Given the description of an element on the screen output the (x, y) to click on. 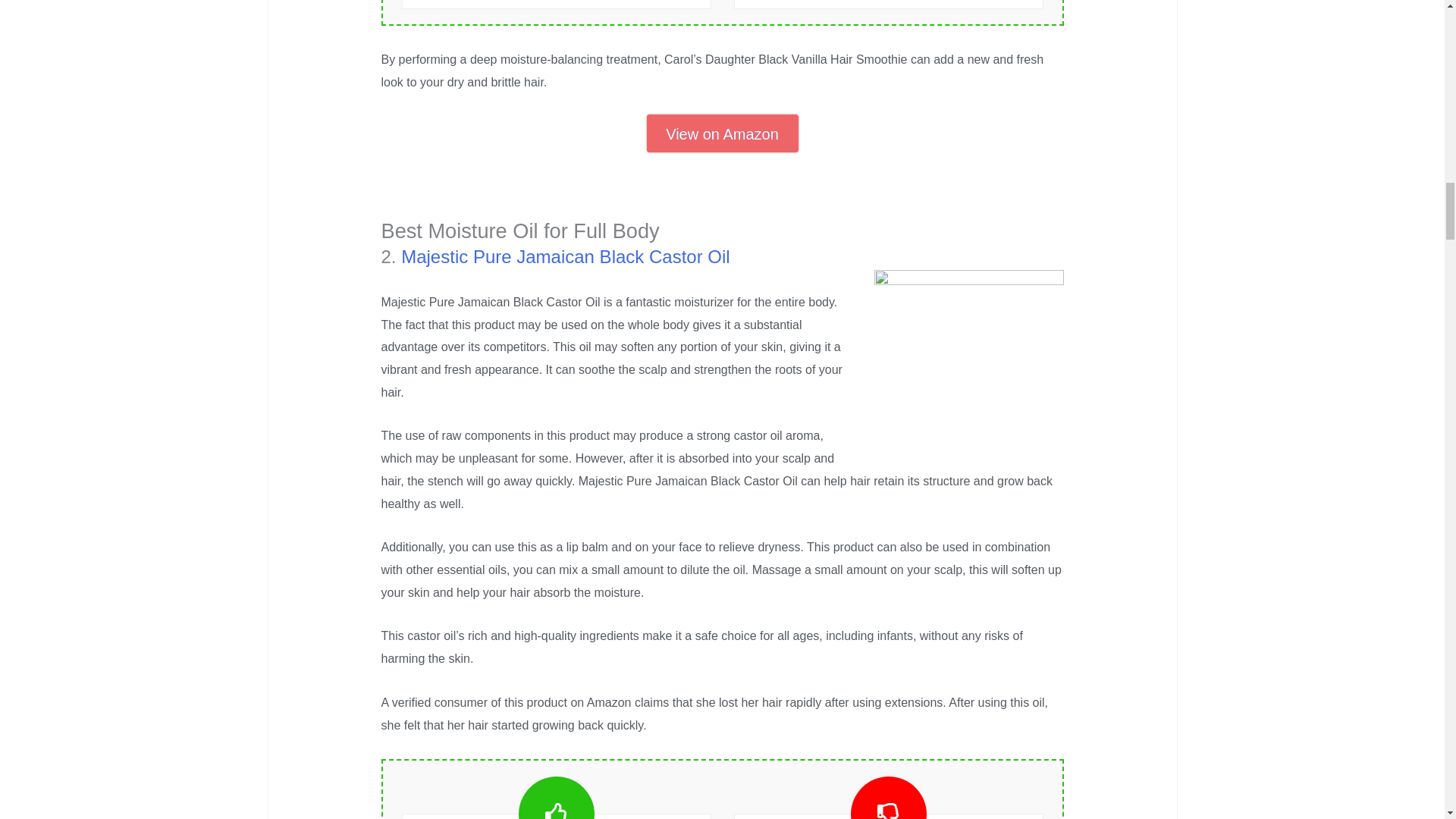
Majestic Pure Jamaican Black Castor Oil (565, 256)
View on Amazon (721, 133)
